Given the description of an element on the screen output the (x, y) to click on. 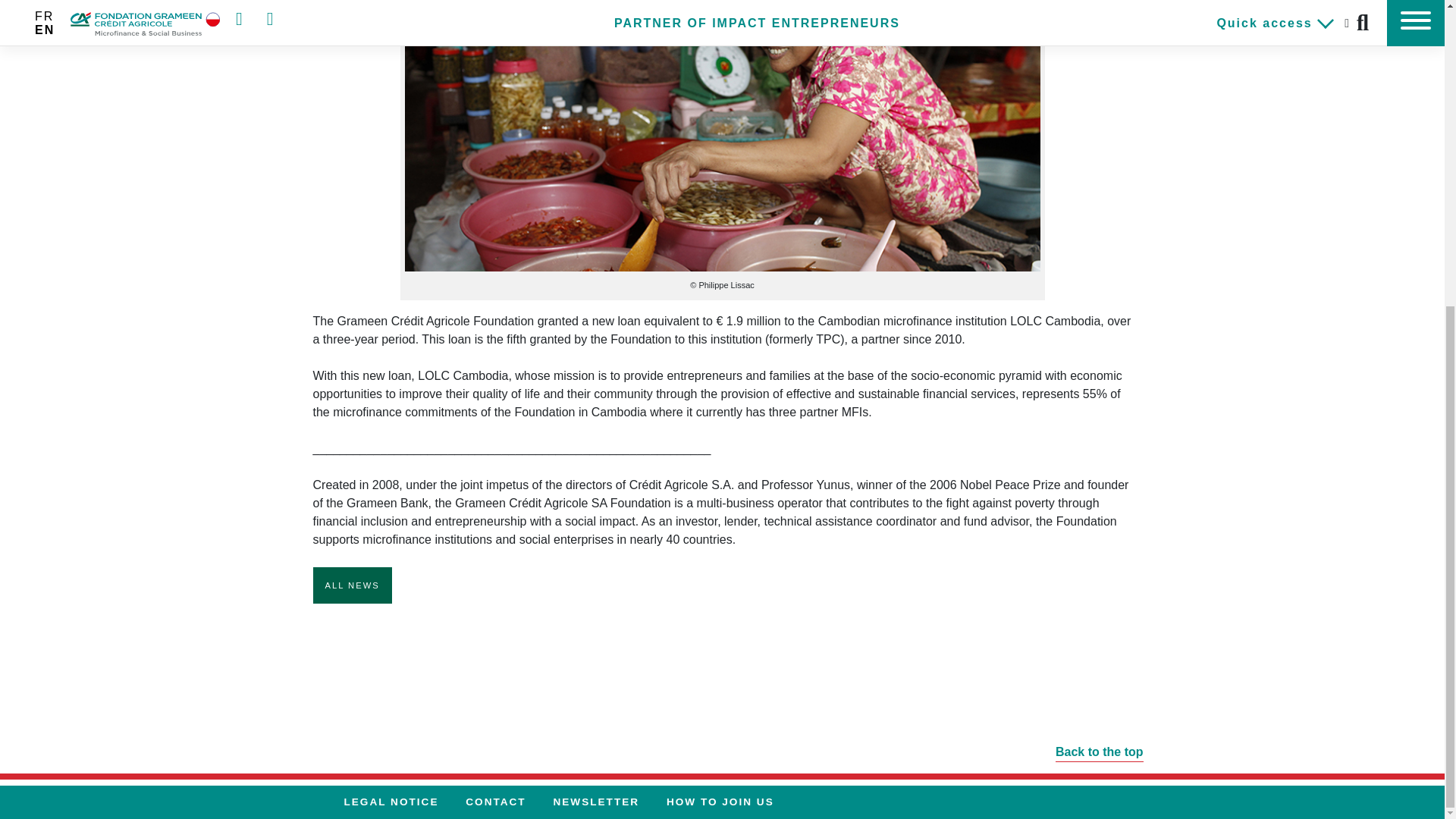
How to join us (719, 801)
Contact (494, 801)
LEGAL NOTICE (391, 801)
Newsletter (595, 801)
CONTACT (494, 801)
ALL NEWS (352, 585)
Legal Notice (391, 801)
HOW TO JOIN US (719, 801)
NEWSLETTER (595, 801)
Limbus Studio (1133, 800)
Back to the top (721, 745)
